Given the description of an element on the screen output the (x, y) to click on. 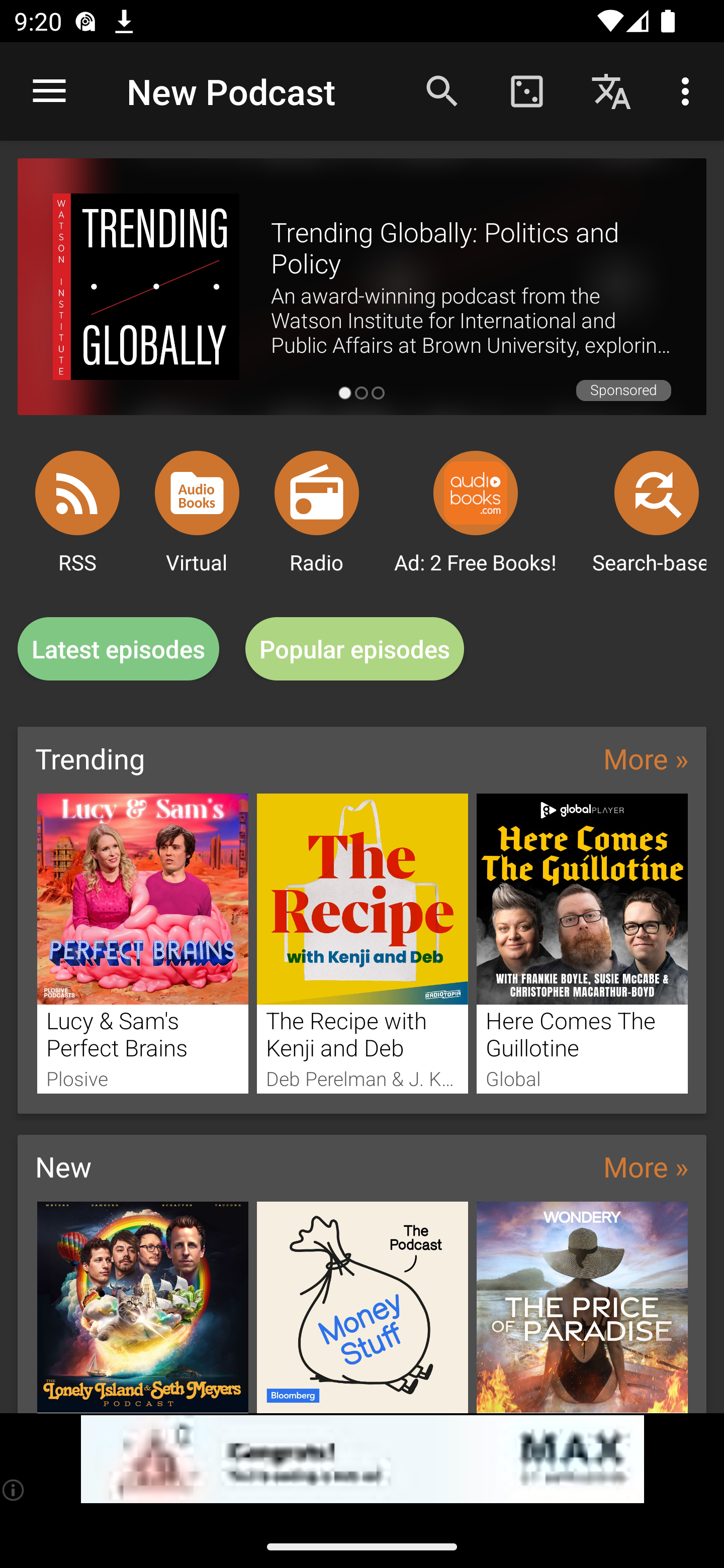
Open navigation sidebar (49, 91)
Search (442, 90)
Random pick (526, 90)
Podcast languages (611, 90)
More options (688, 90)
RSS (77, 492)
Virtual (196, 492)
Radio (316, 492)
Search-based (656, 492)
Latest episodes (118, 648)
Popular episodes (354, 648)
More » (645, 757)
Lucy & Sam's Perfect Brains Plosive (142, 942)
Here Comes The Guillotine Global (581, 942)
More » (645, 1166)
The Lonely Island and Seth Meyers Podcast (142, 1306)
Money Stuff: The Podcast (362, 1306)
The Price of Paradise (581, 1306)
app-monetization (362, 1459)
(i) (14, 1489)
